Given the description of an element on the screen output the (x, y) to click on. 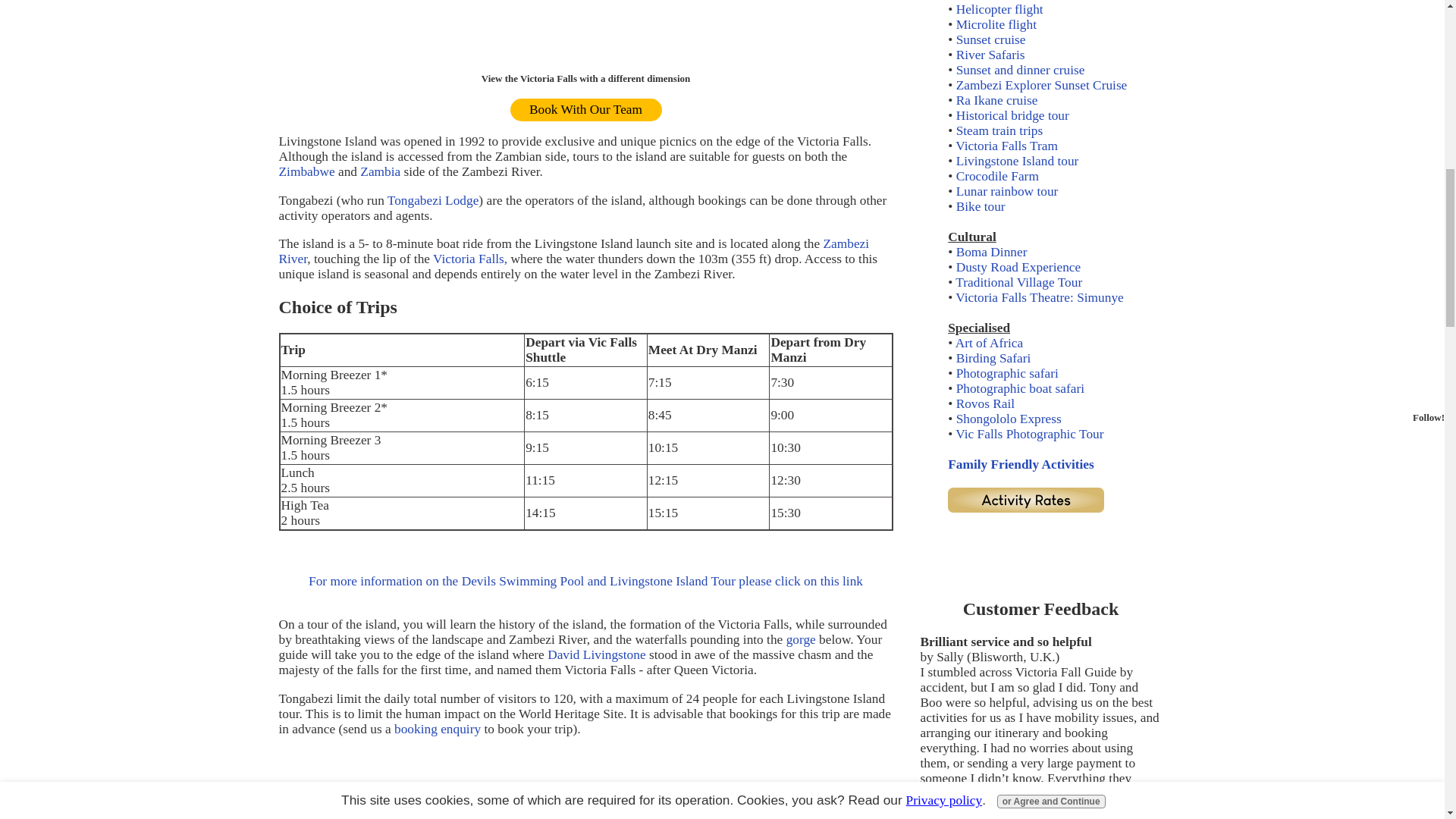
YouTube video player (586, 791)
